Given the description of an element on the screen output the (x, y) to click on. 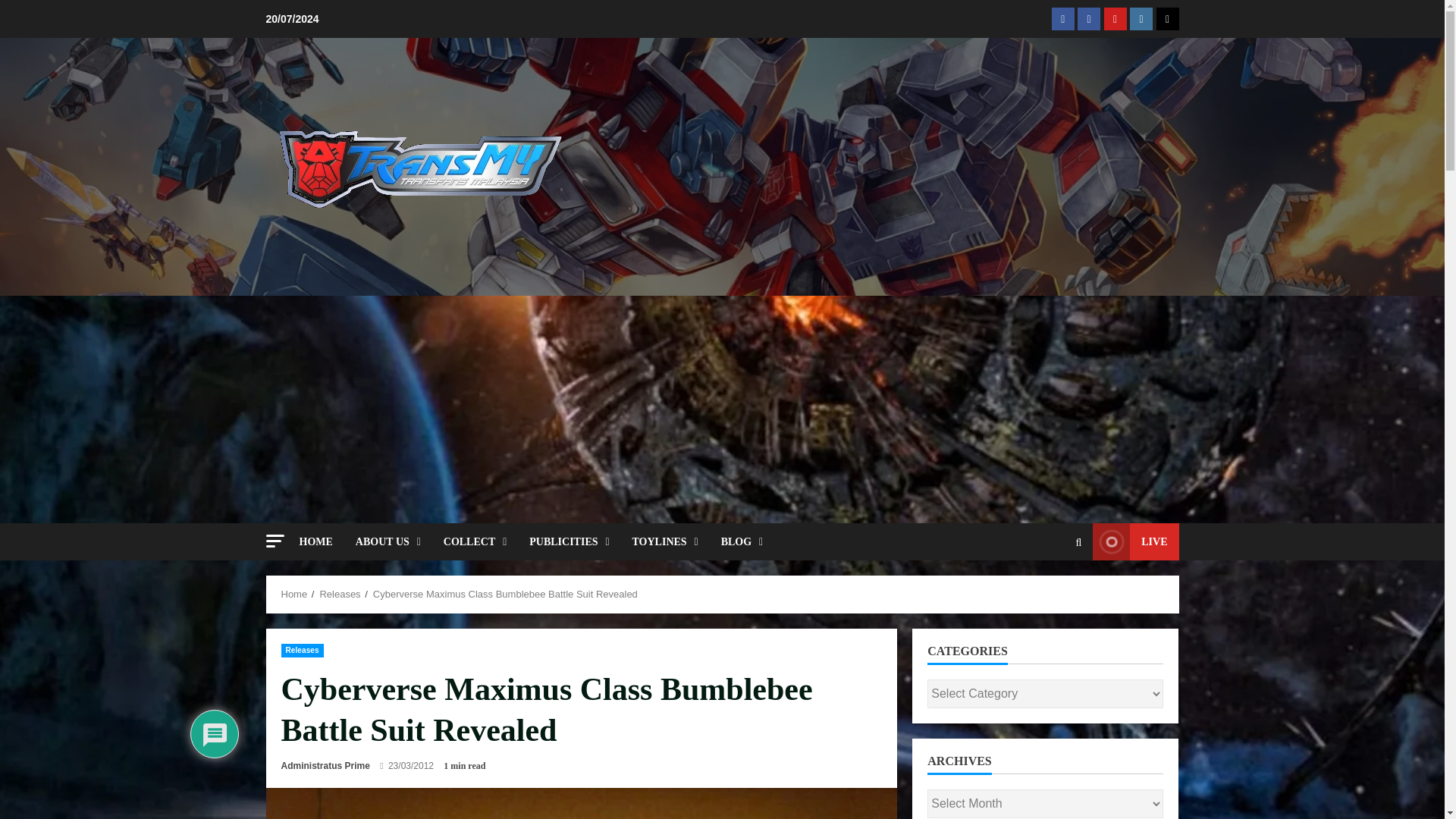
HOME (320, 541)
ABOUT US (387, 541)
COLLECT (475, 541)
